Given the description of an element on the screen output the (x, y) to click on. 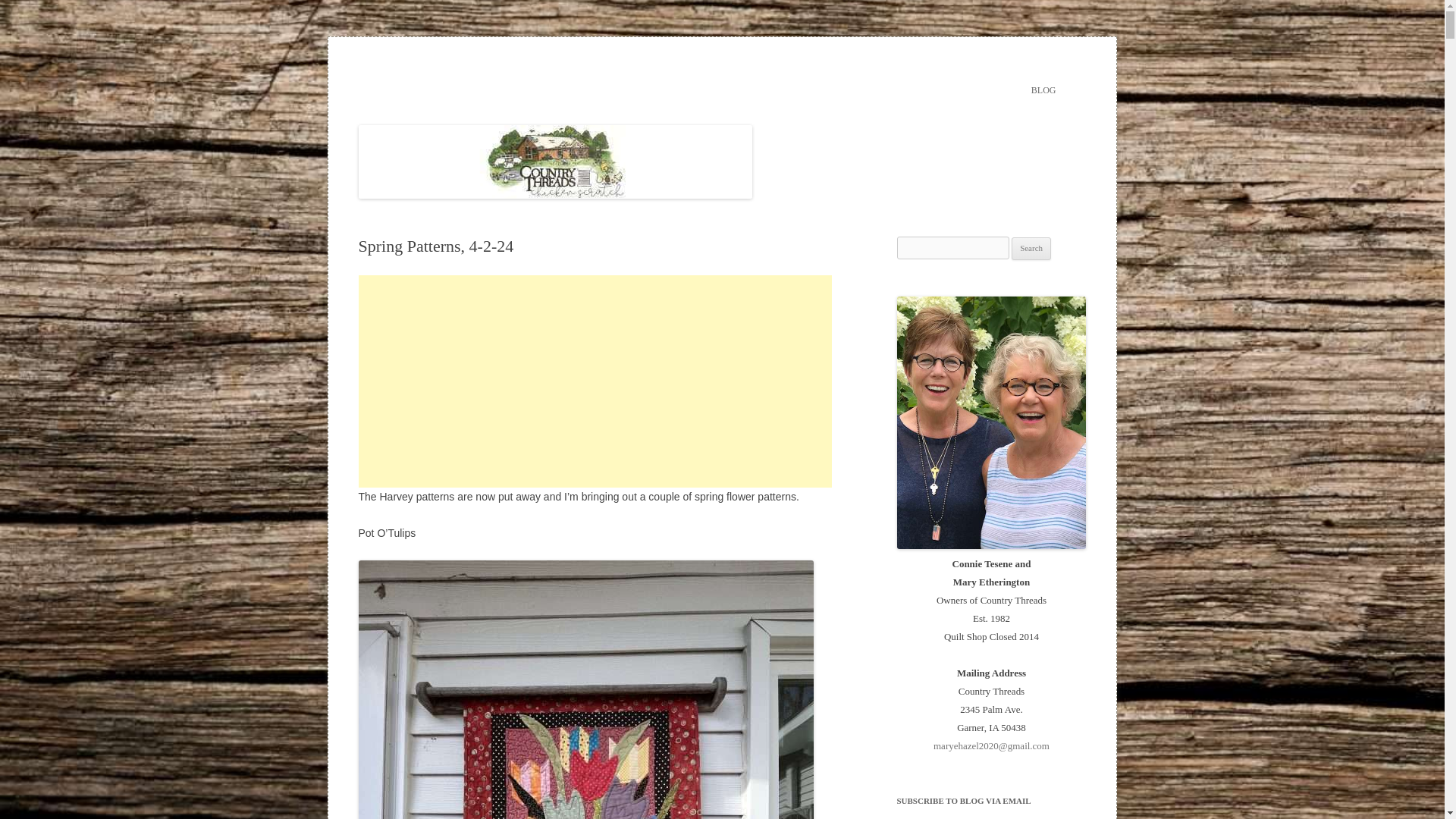
Country Threads Chicken Scratch (502, 73)
Advertisement (594, 381)
Search (1031, 248)
